Given the description of an element on the screen output the (x, y) to click on. 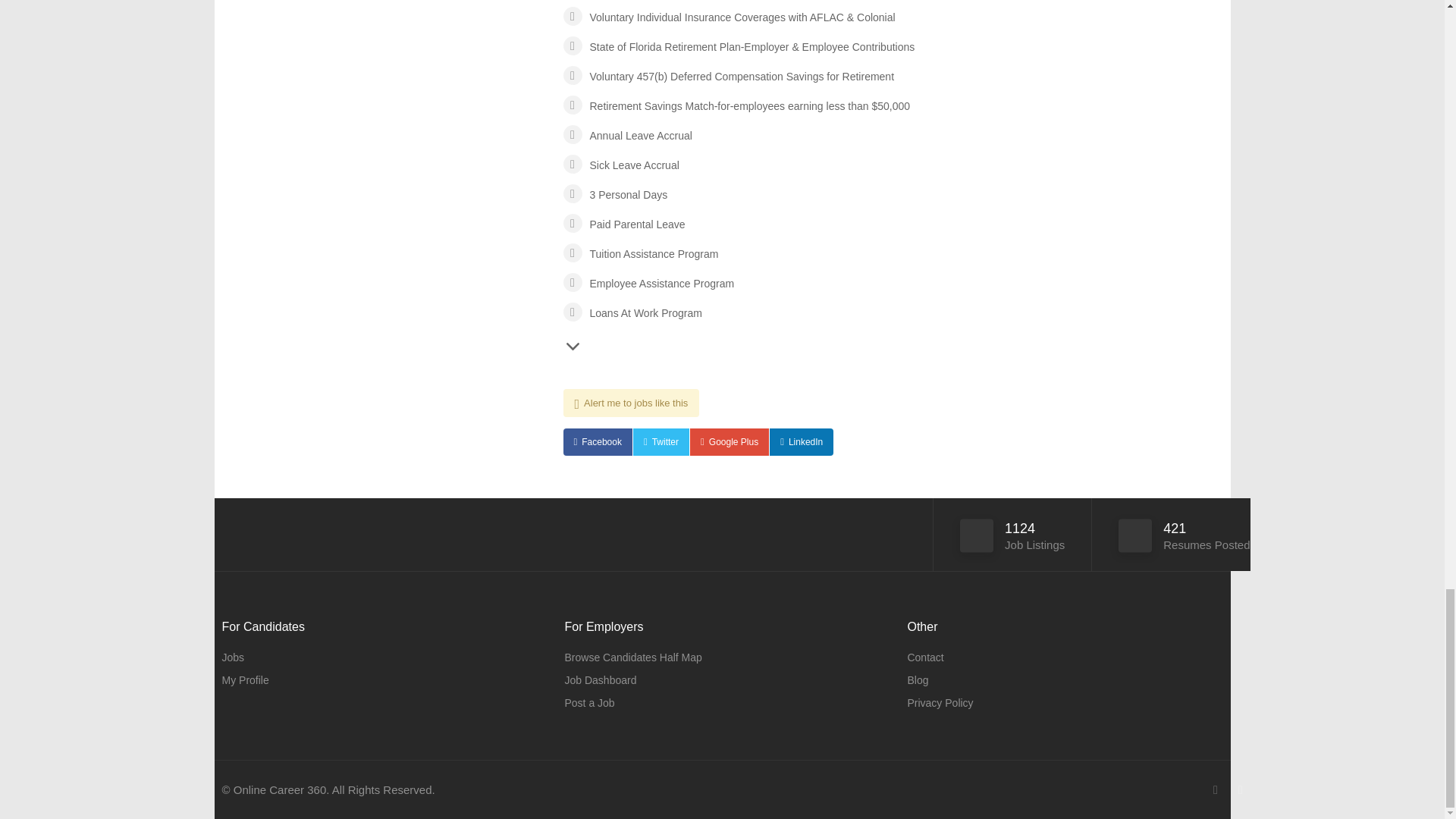
Alert me to jobs like this (630, 402)
Twitter (660, 441)
Facebook (596, 441)
LinkedIn (801, 441)
Google Plus (729, 441)
Twitter (660, 441)
